Given the description of an element on the screen output the (x, y) to click on. 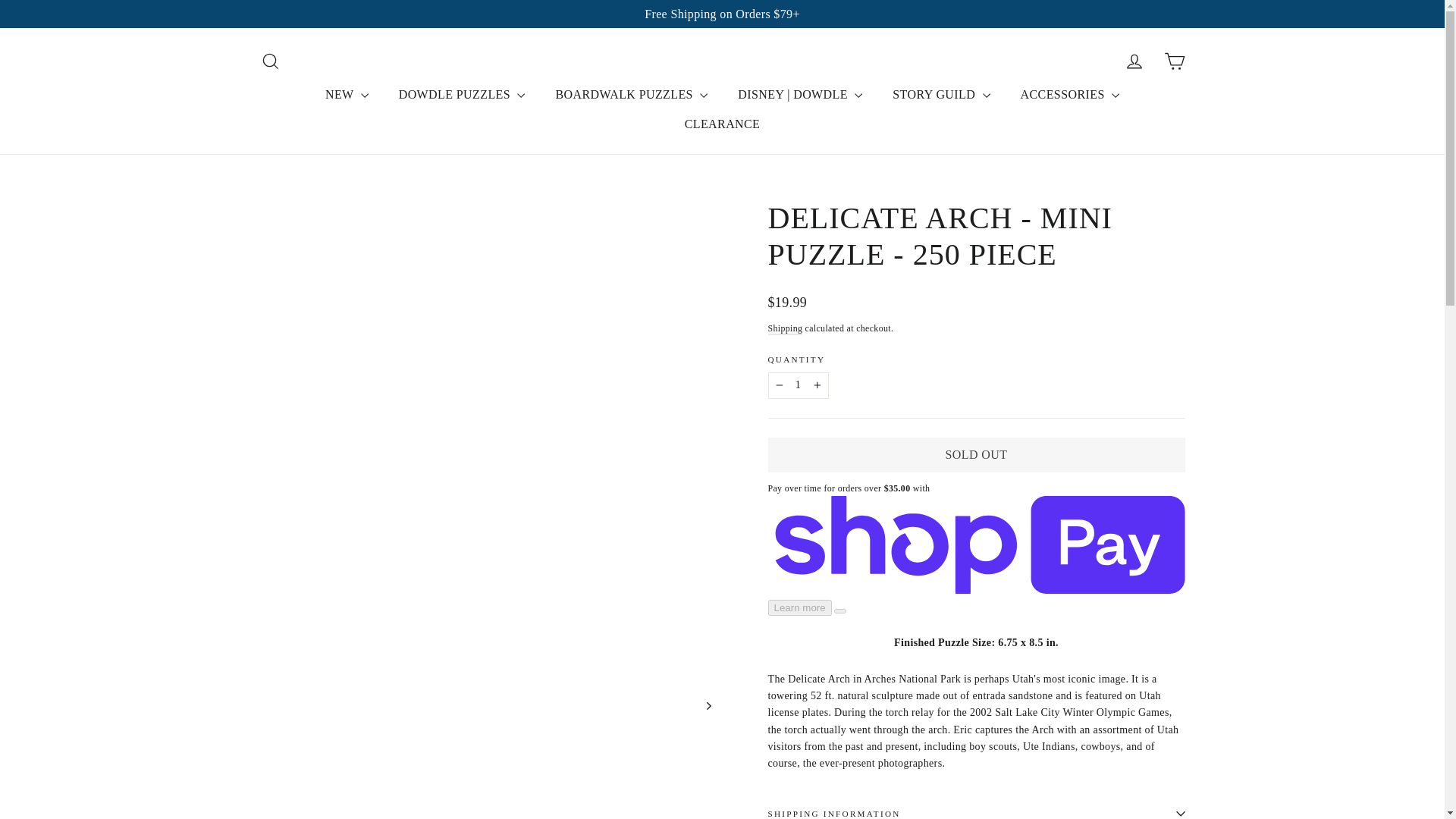
ACCOUNT (1134, 61)
1 (797, 385)
ICON-CART (1174, 61)
ICON-SEARCH (270, 61)
